Given the description of an element on the screen output the (x, y) to click on. 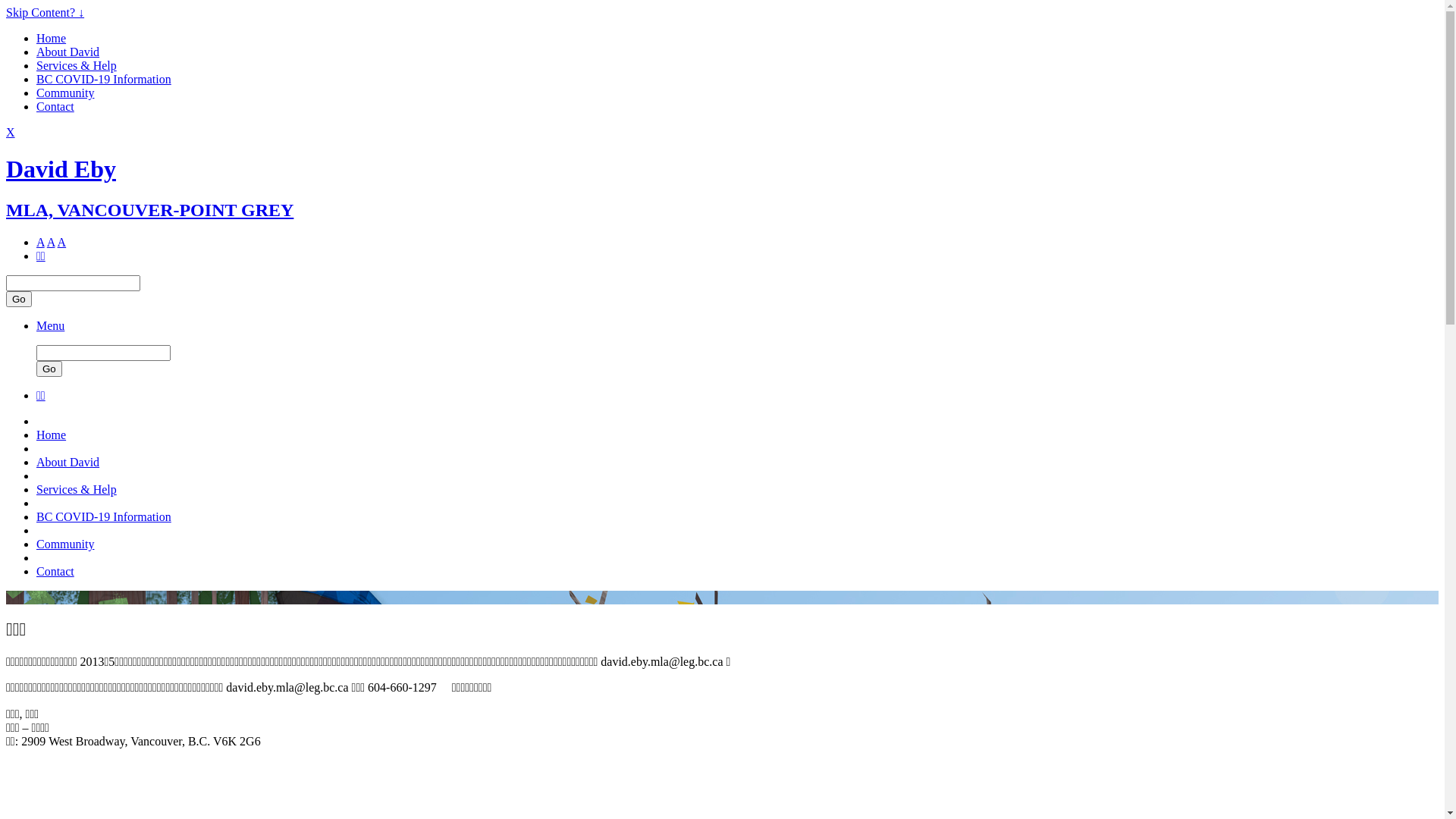
A Element type: text (61, 241)
A Element type: text (51, 241)
BC COVID-19 Information Element type: text (103, 78)
Home Element type: text (50, 434)
A Element type: text (40, 241)
About David Element type: text (67, 461)
MLA, VANCOUVER-POINT GREY Element type: text (149, 209)
Call: 604-660-1297 Element type: hover (442, 687)
Home Element type: text (50, 37)
Contact Element type: text (55, 106)
About David Element type: text (67, 51)
Go Element type: text (18, 299)
David Eby Element type: text (61, 168)
Menu Element type: text (50, 325)
Go Element type: text (49, 368)
BC COVID-19 Information Element type: text (103, 516)
Call: 604-660-1297 Element type: hover (442, 689)
Services & Help Element type: text (76, 489)
Services & Help Element type: text (76, 65)
Community Element type: text (65, 543)
X Element type: text (10, 131)
Community Element type: text (65, 92)
Contact Element type: text (55, 570)
